Given the description of an element on the screen output the (x, y) to click on. 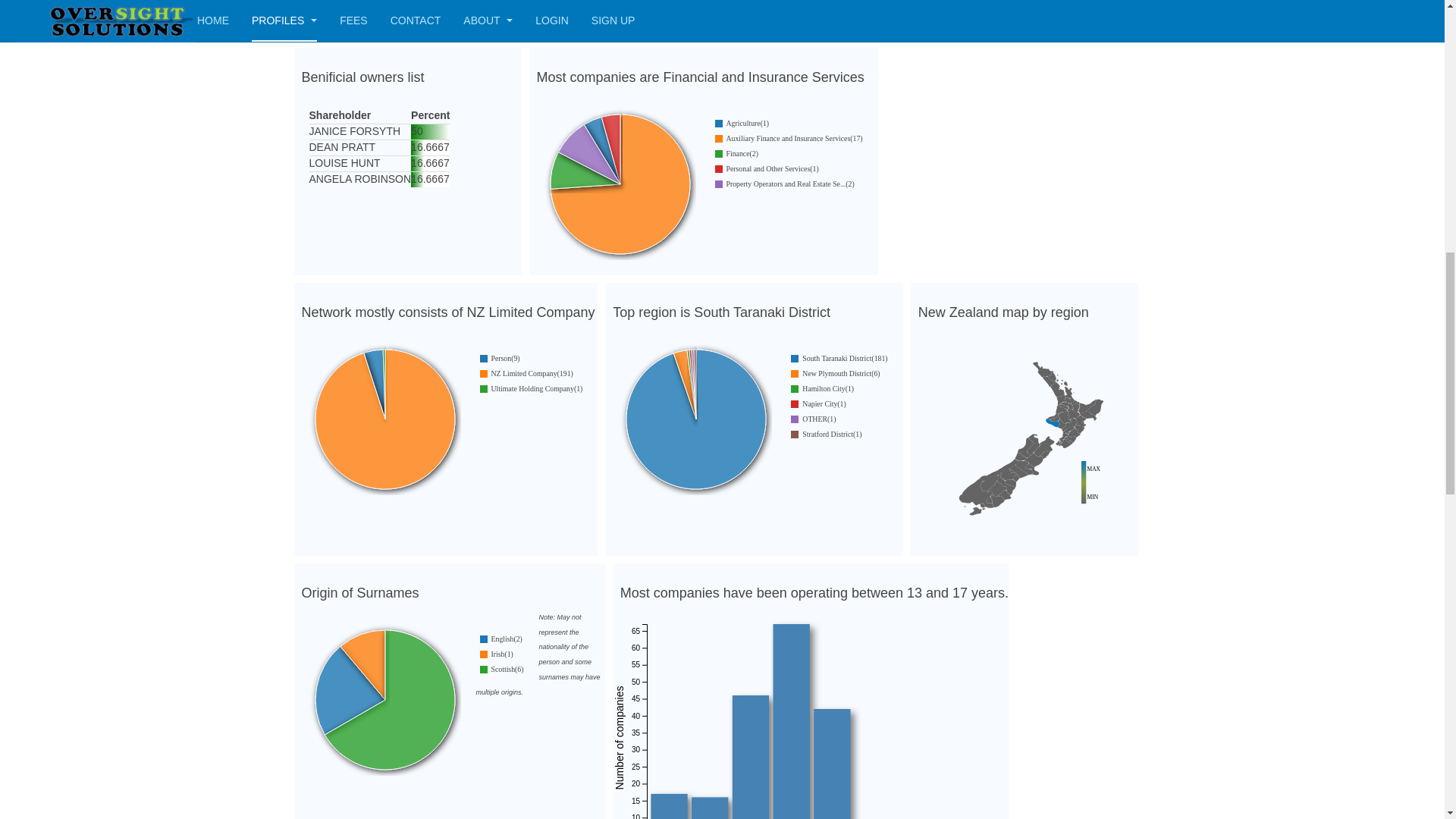
Benificial owners list COLVILLE-NOMINEES-LIMITED (407, 147)
Click to move Up (684, 9)
Click to move Left (661, 9)
Click to zoom In (1024, 442)
Click to see full chart (777, 8)
Click to zoom Out (702, 8)
Click to move Right (790, 8)
Click to move Down (743, 9)
